Given the description of an element on the screen output the (x, y) to click on. 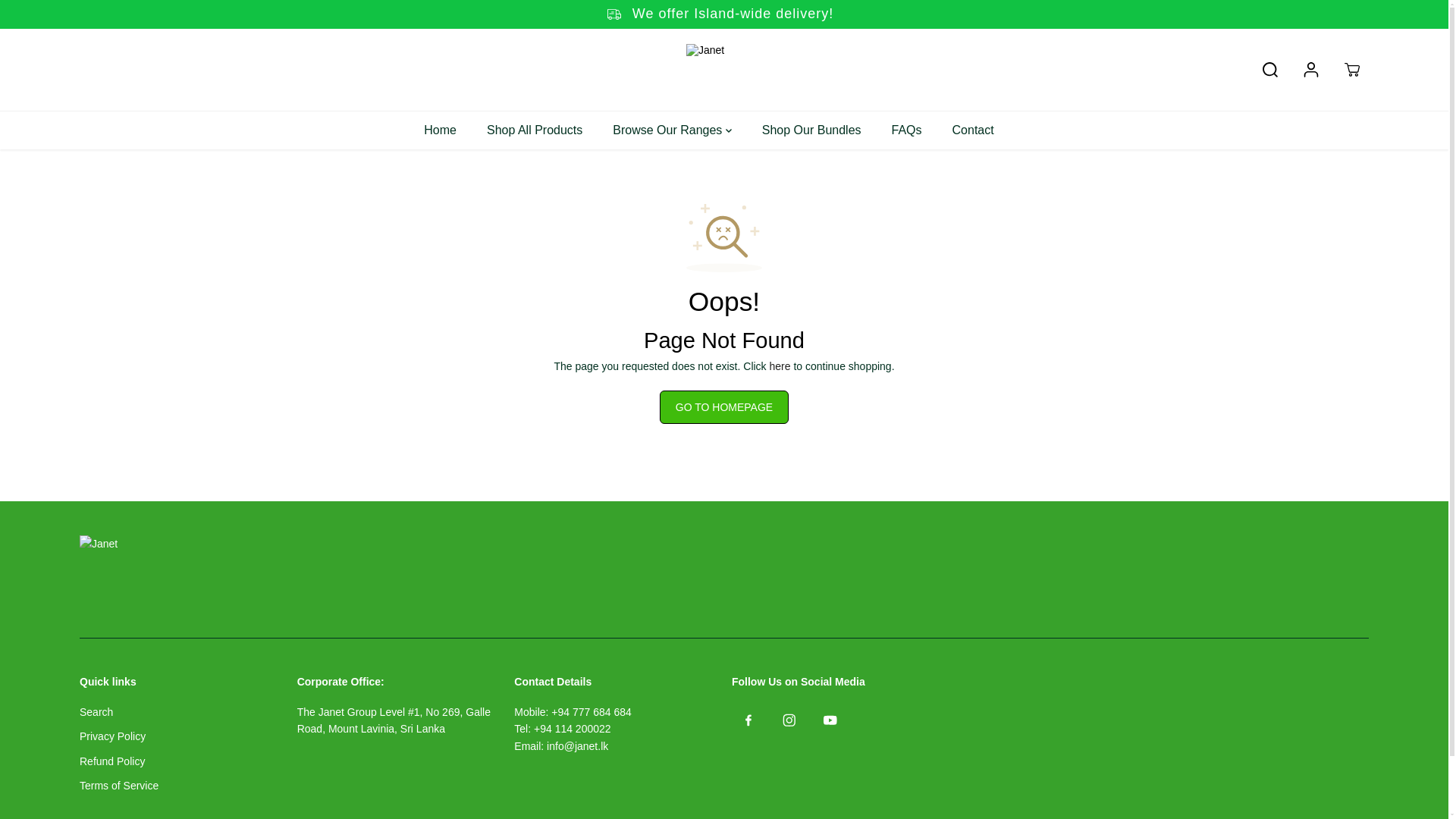
Cart (1351, 69)
Search (1270, 69)
Log in (1310, 69)
SKIP TO CONTENT (60, 18)
